Given the description of an element on the screen output the (x, y) to click on. 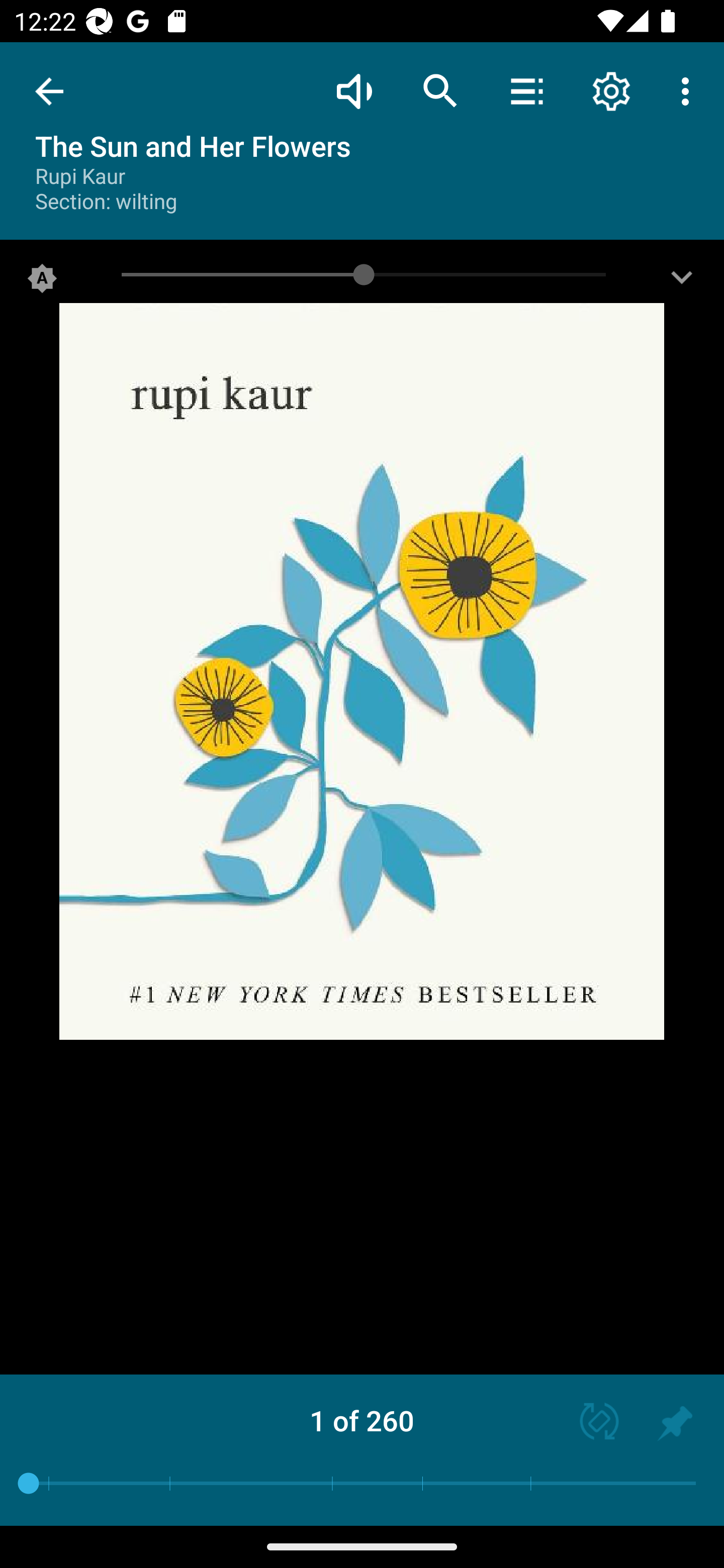
Exit reading (49, 91)
Read aloud (354, 90)
Text search (440, 90)
Contents / Bookmarks / Quotes (526, 90)
Reading settings (611, 90)
More options (688, 90)
Selected screen brightness (42, 281)
Screen brightness settings (681, 281)
1 of 260 (361, 1420)
Screen orientation (590, 1423)
Add to history (674, 1423)
